Given the description of an element on the screen output the (x, y) to click on. 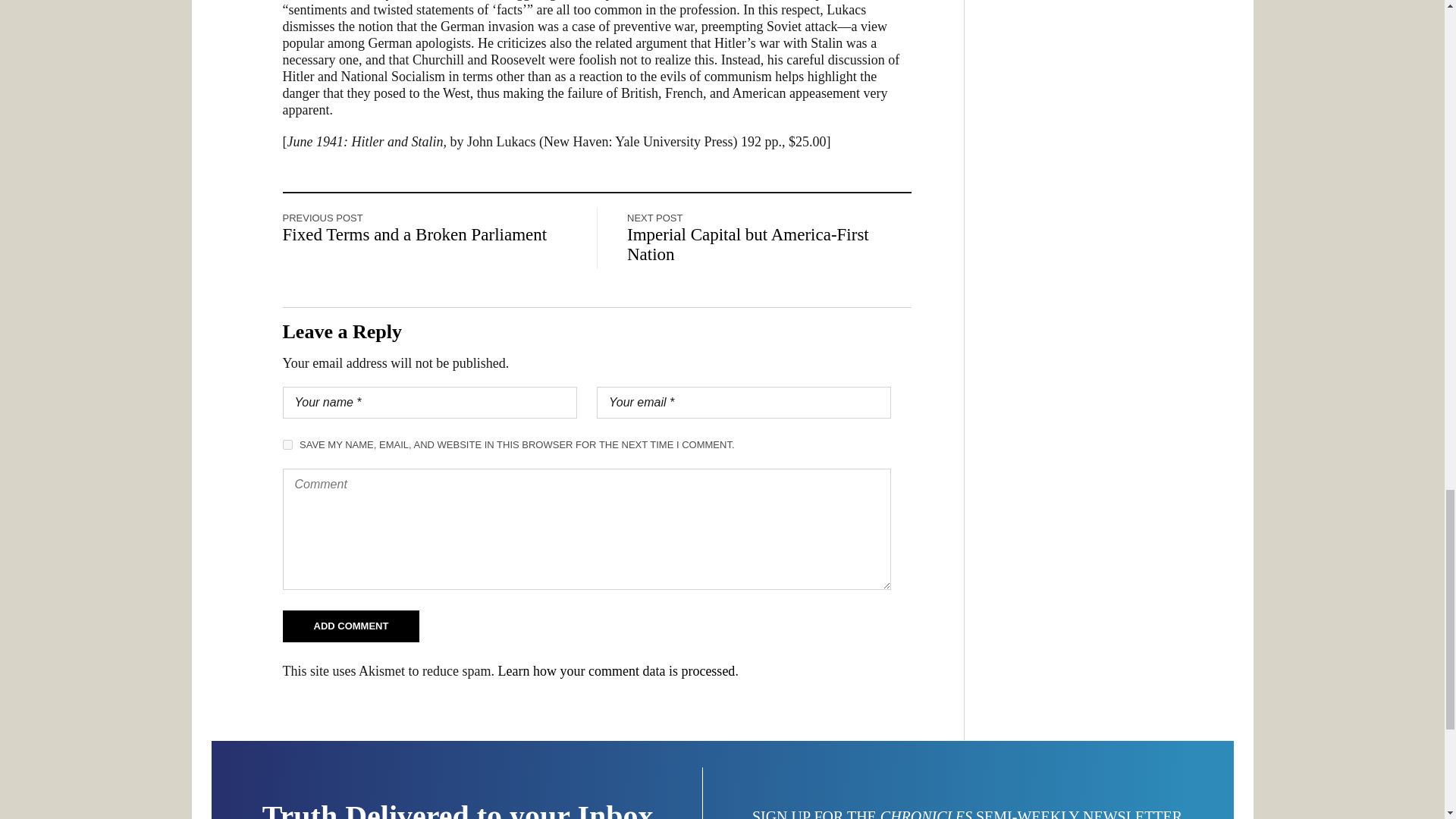
Learn how your comment data is processed (616, 670)
yes (287, 444)
Add Comment (350, 626)
Imperial Capital but America-First Nation (748, 244)
Fixed Terms and a Broken Parliament (414, 234)
Add Comment (350, 626)
